Given the description of an element on the screen output the (x, y) to click on. 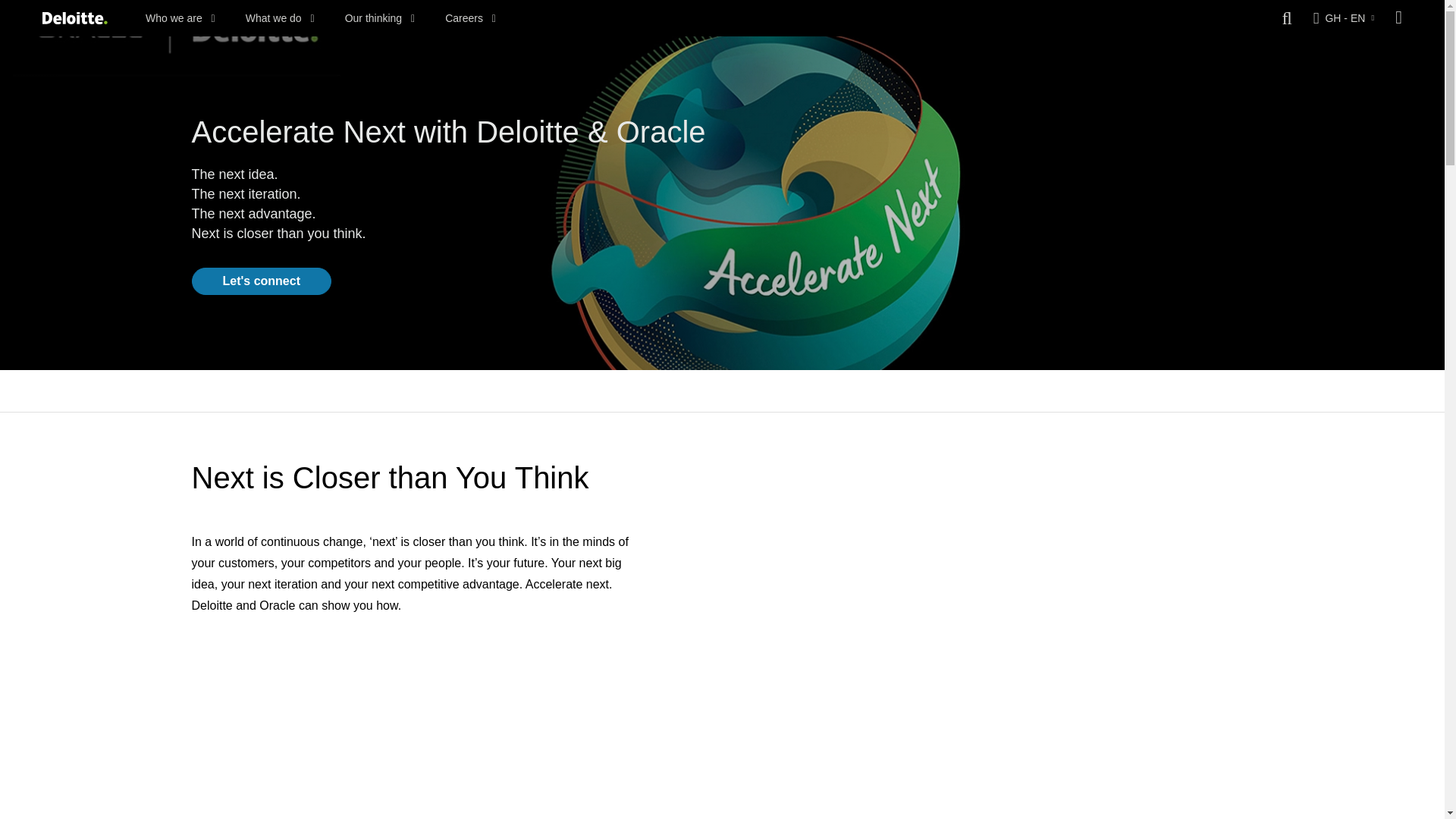
Who we are (180, 18)
Our thinking (379, 18)
What we do (280, 18)
Careers (470, 18)
Deloitte (74, 18)
